Given the description of an element on the screen output the (x, y) to click on. 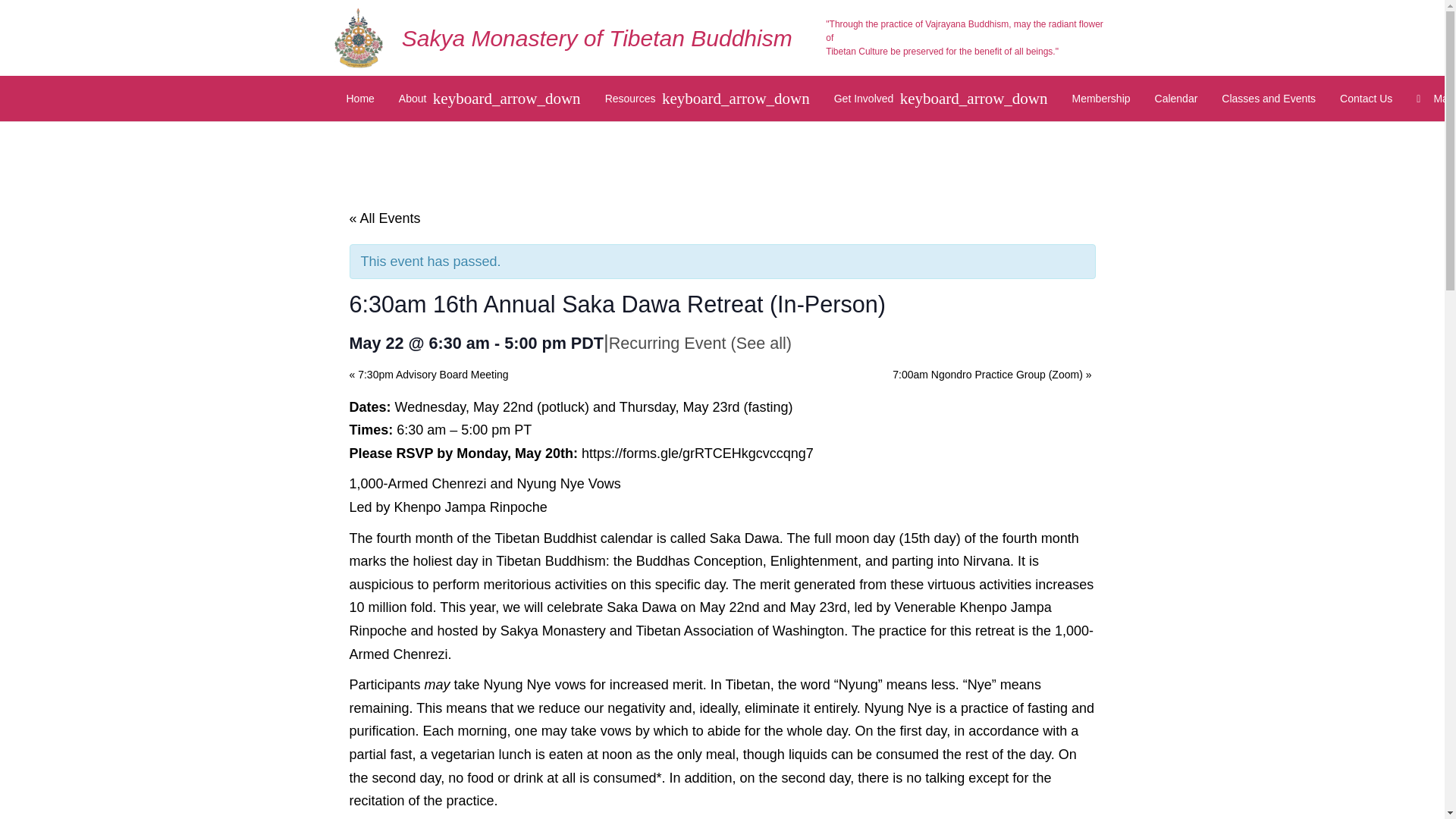
Get Involved (940, 98)
Home (359, 98)
About (489, 98)
Membership (1100, 98)
Calendar (1175, 98)
Resources (707, 98)
